Given the description of an element on the screen output the (x, y) to click on. 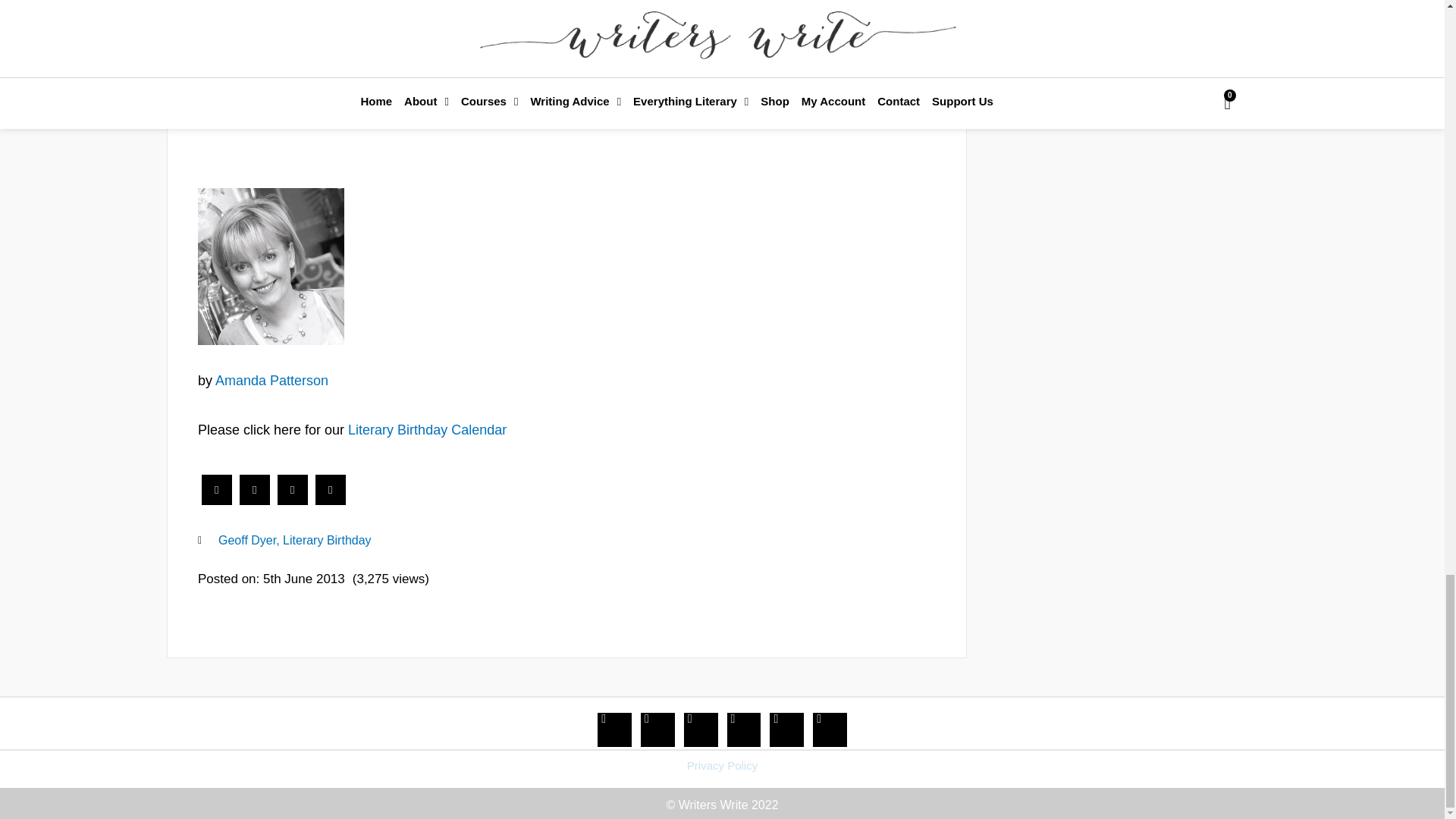
Share to LinkedIn (292, 500)
Share on Twitter (254, 500)
Share on Facebook (216, 500)
Amanda Patterson (270, 266)
Share on Pinterest (330, 500)
